Given the description of an element on the screen output the (x, y) to click on. 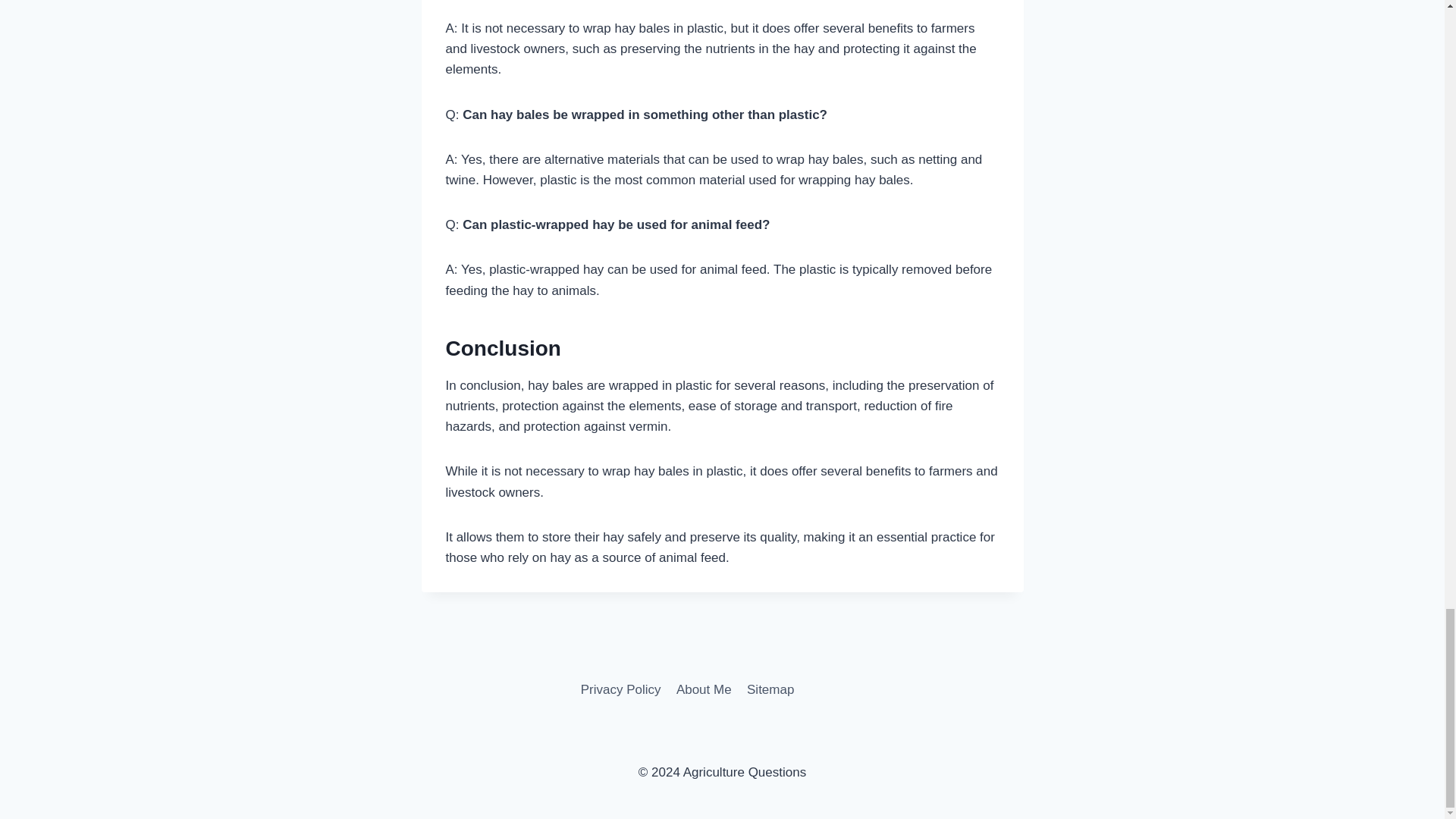
About Me (703, 689)
Privacy Policy (620, 689)
Sitemap (770, 689)
